Given the description of an element on the screen output the (x, y) to click on. 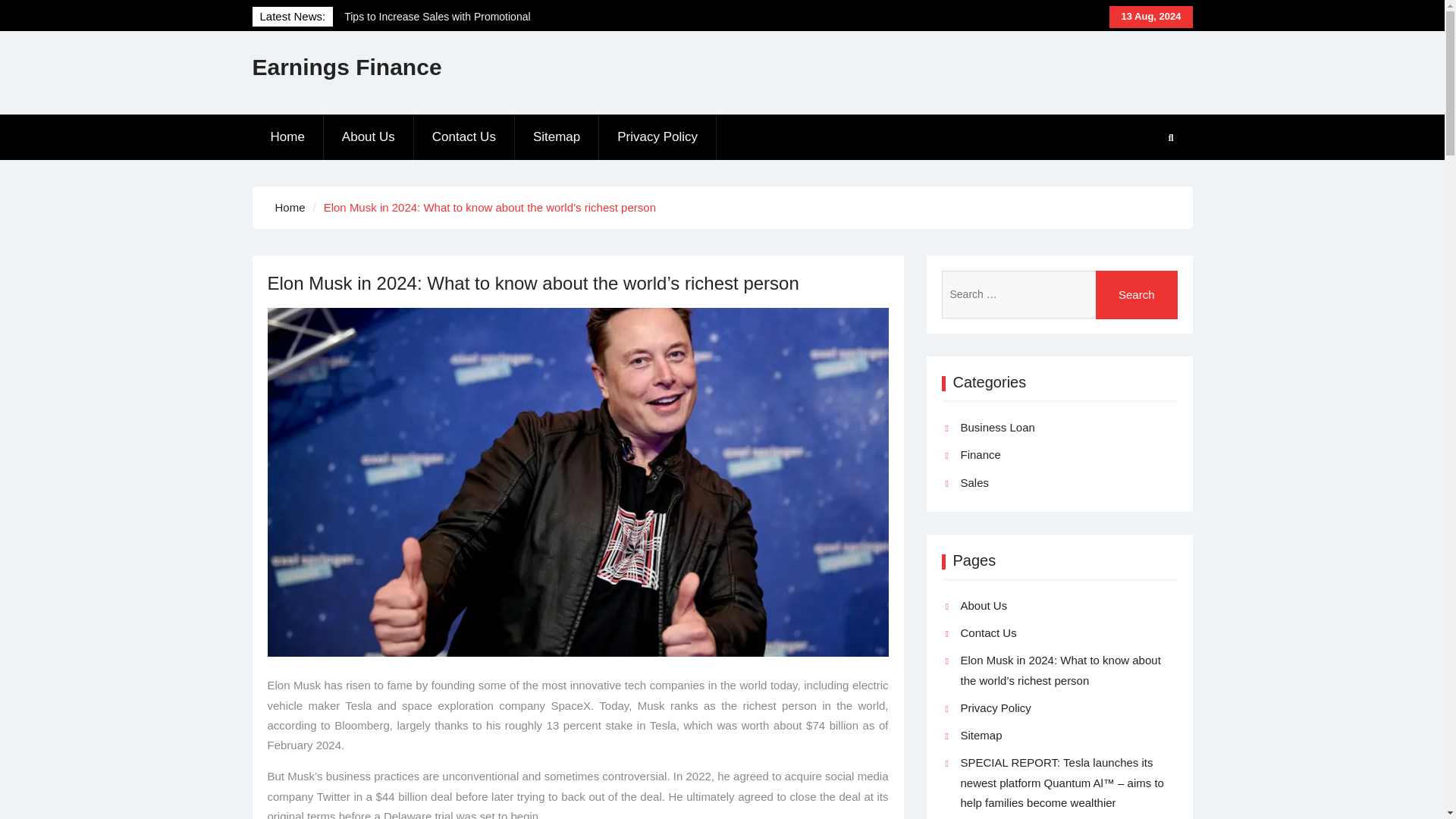
Finance (979, 455)
Sitemap (556, 136)
Business Loan (996, 427)
About Us (983, 604)
Home (289, 206)
Sitemap (980, 735)
Search (1136, 295)
Earnings Finance (346, 66)
Contact Us (987, 632)
Search (1136, 295)
